Given the description of an element on the screen output the (x, y) to click on. 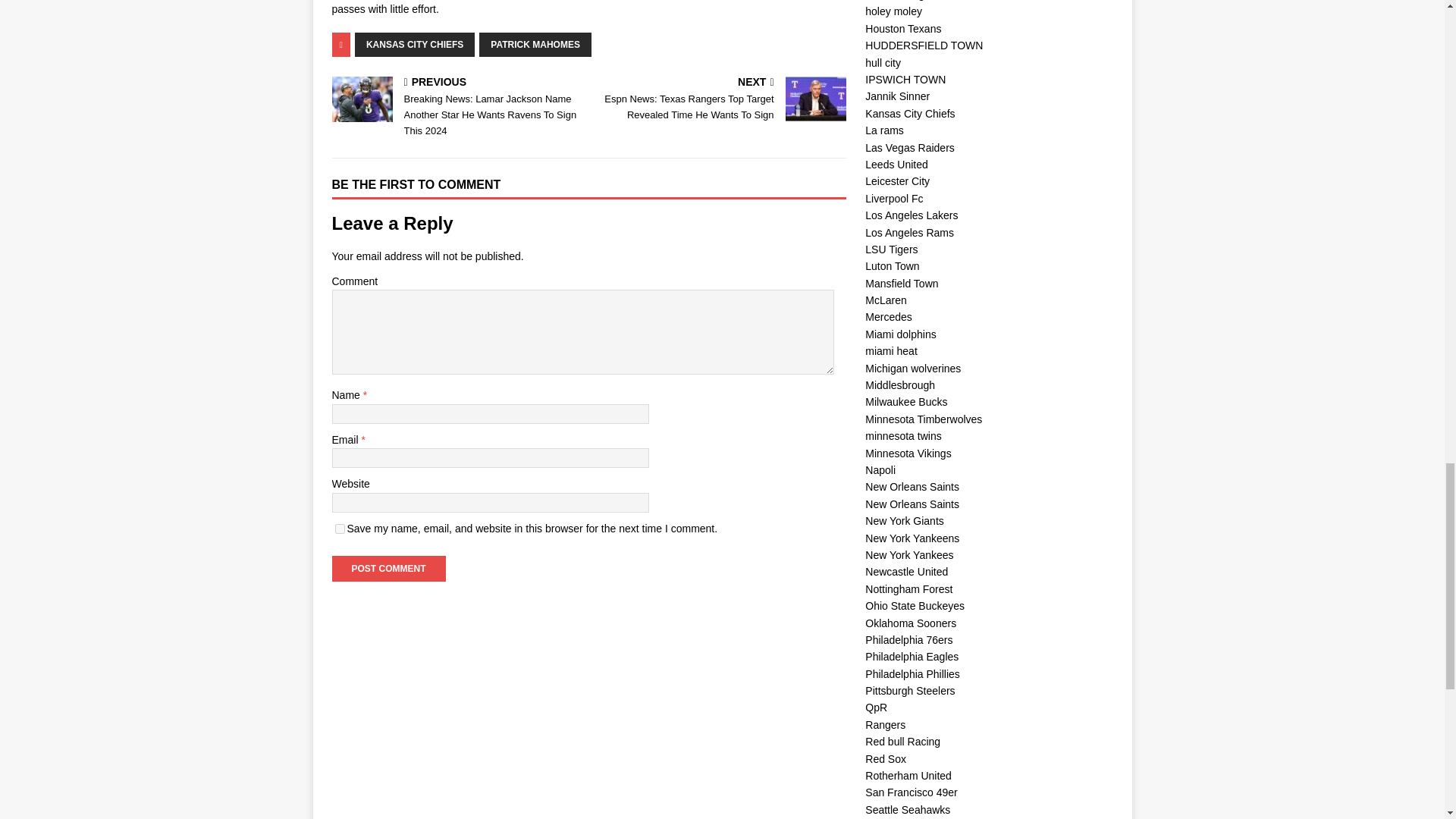
PATRICK MAHOMES (535, 44)
Post Comment (388, 568)
KANSAS CITY CHIEFS (414, 44)
yes (339, 528)
Post Comment (388, 568)
